Given the description of an element on the screen output the (x, y) to click on. 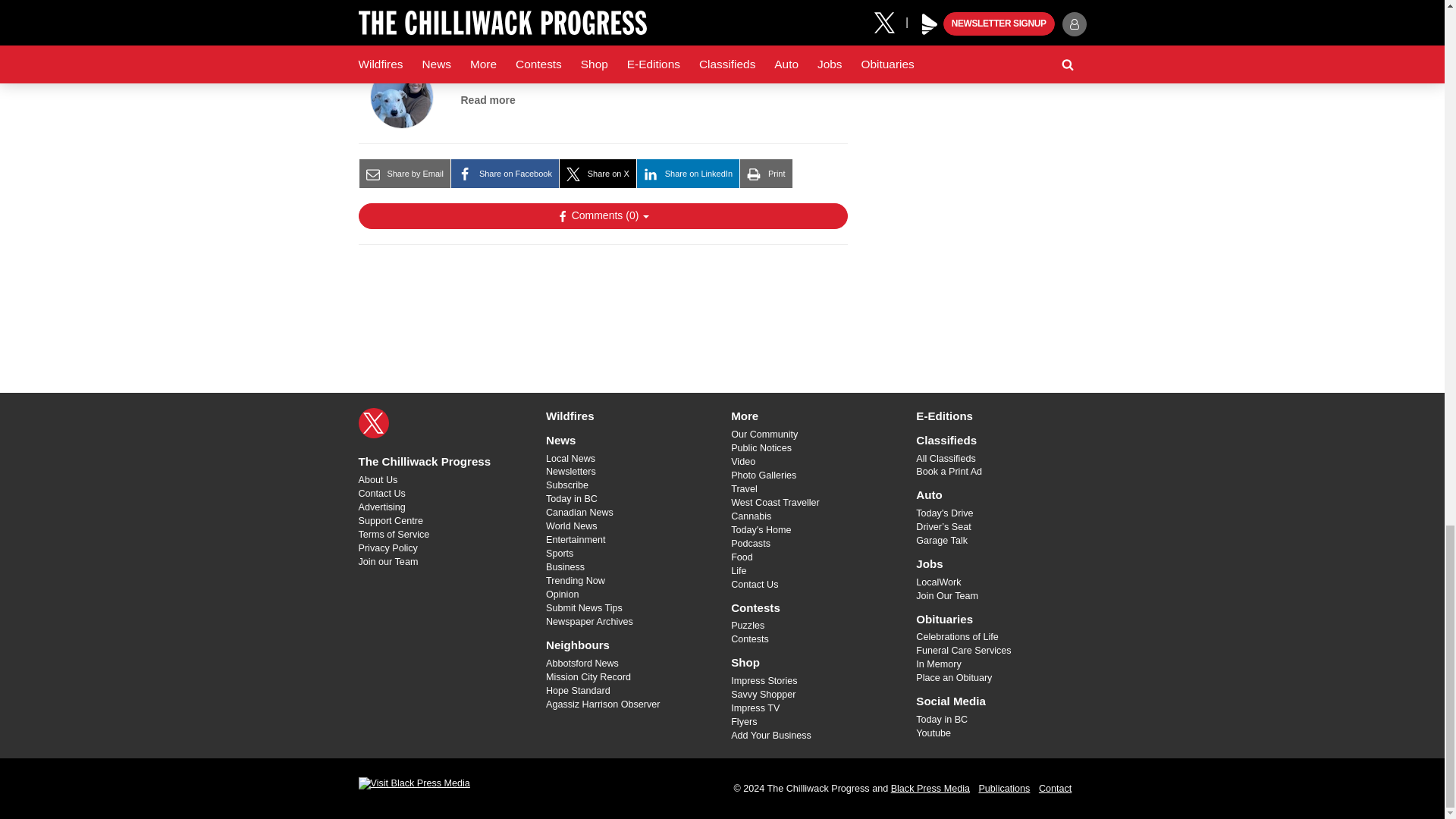
X (373, 422)
Show Comments (602, 216)
